Given the description of an element on the screen output the (x, y) to click on. 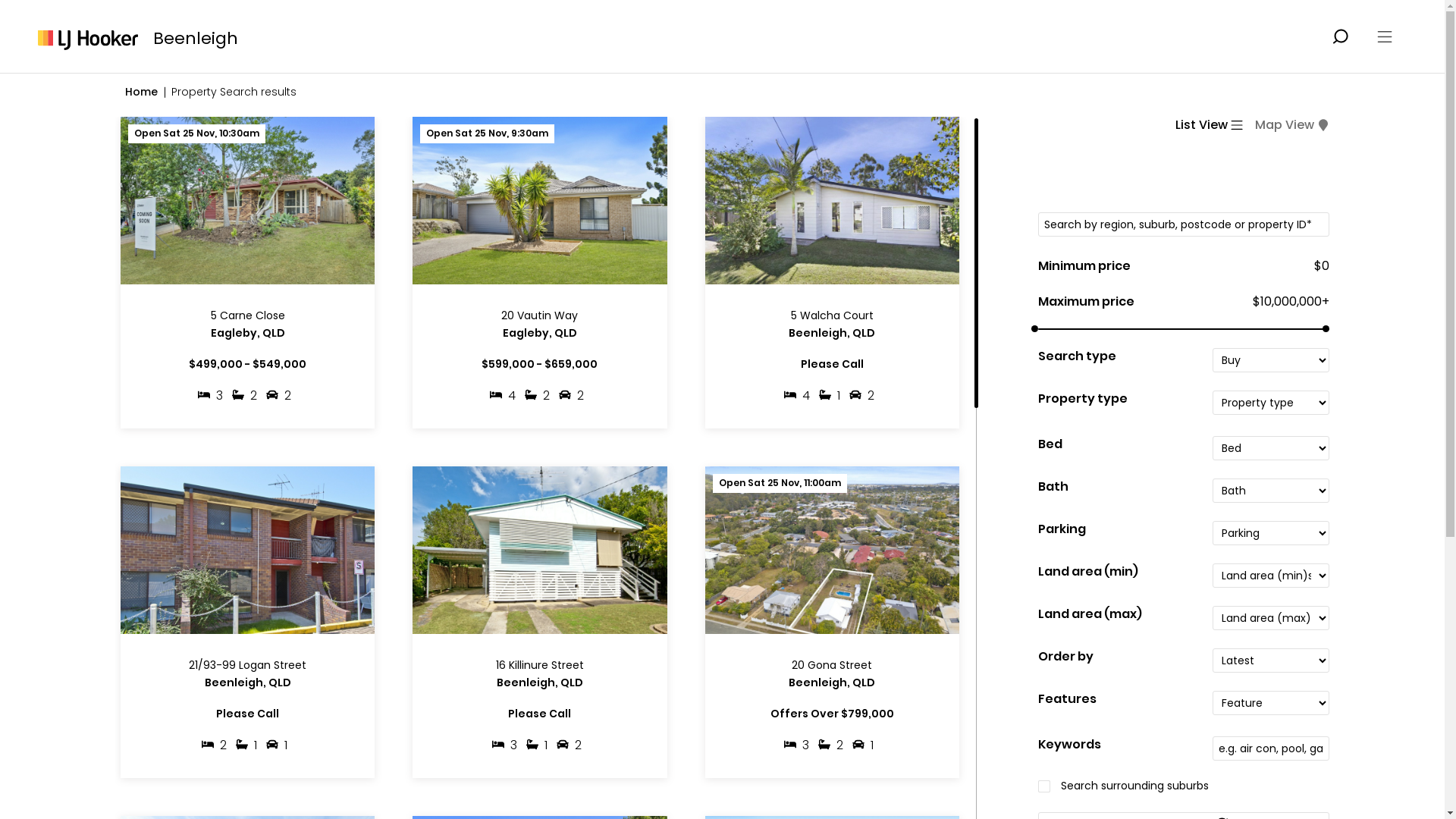
List View Element type: text (1208, 124)
16 Killinure Street Element type: text (539, 665)
Map View Element type: text (1292, 124)
20 Vautin Way Element type: text (539, 315)
Home Element type: text (141, 91)
21/93-99 Logan Street Element type: text (247, 665)
20 Gona Street Element type: text (832, 665)
5 Carne Close Element type: text (247, 315)
5 Walcha Court Element type: text (832, 315)
